Given the description of an element on the screen output the (x, y) to click on. 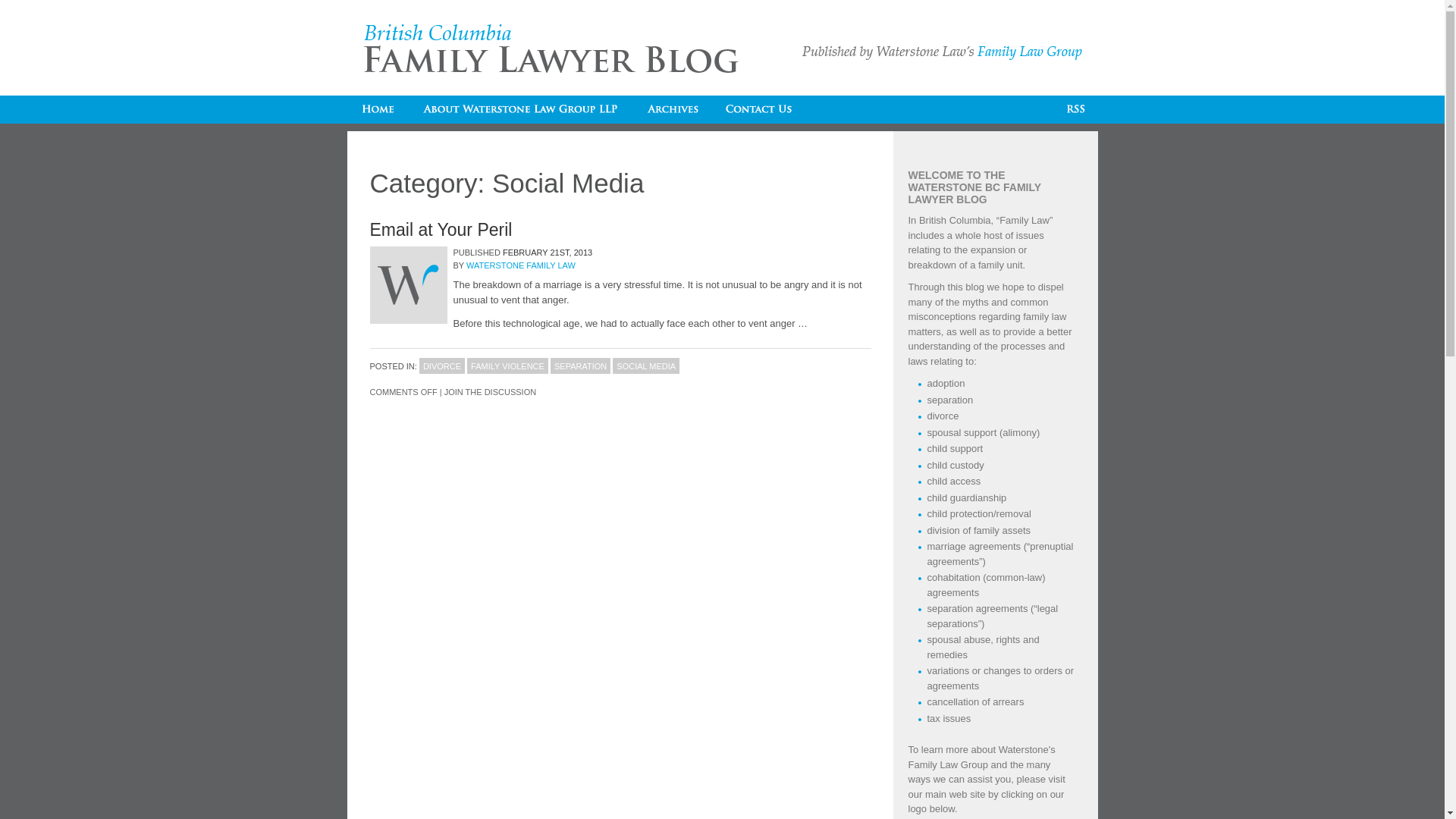
About Waterstone Law LLP Element type: text (520, 109)
SEPARATION Element type: text (580, 365)
Waterstone's Family Law Group Element type: text (981, 756)
RSS Element type: text (1076, 109)
WATERSTONE FAMILY LAW Element type: text (520, 264)
BC Family Lawyer Blog Element type: text (551, 47)
Home Element type: text (377, 109)
Contact Us Element type: text (758, 109)
Published by Waterstone Law's Family Law Group Element type: text (941, 52)
DIVORCE Element type: text (441, 365)
Email at Your Peril Element type: text (441, 229)
FAMILY VIOLENCE Element type: text (507, 365)
SOCIAL MEDIA Element type: text (645, 365)
Archives Element type: text (671, 109)
JOIN THE DISCUSSION Element type: text (490, 390)
